Given the description of an element on the screen output the (x, y) to click on. 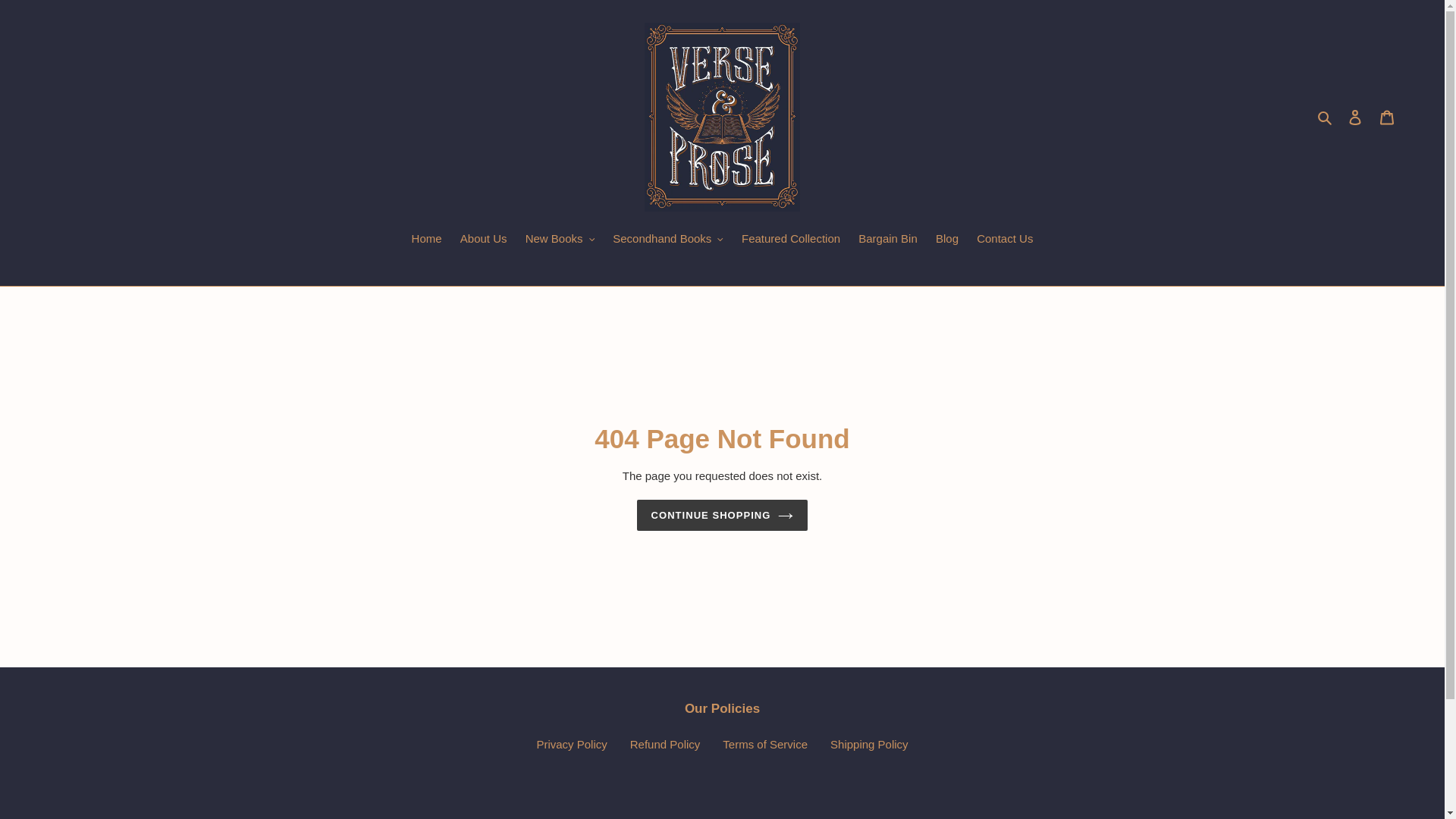
Cart (1387, 116)
Log in (1355, 116)
Search (1326, 116)
